Given the description of an element on the screen output the (x, y) to click on. 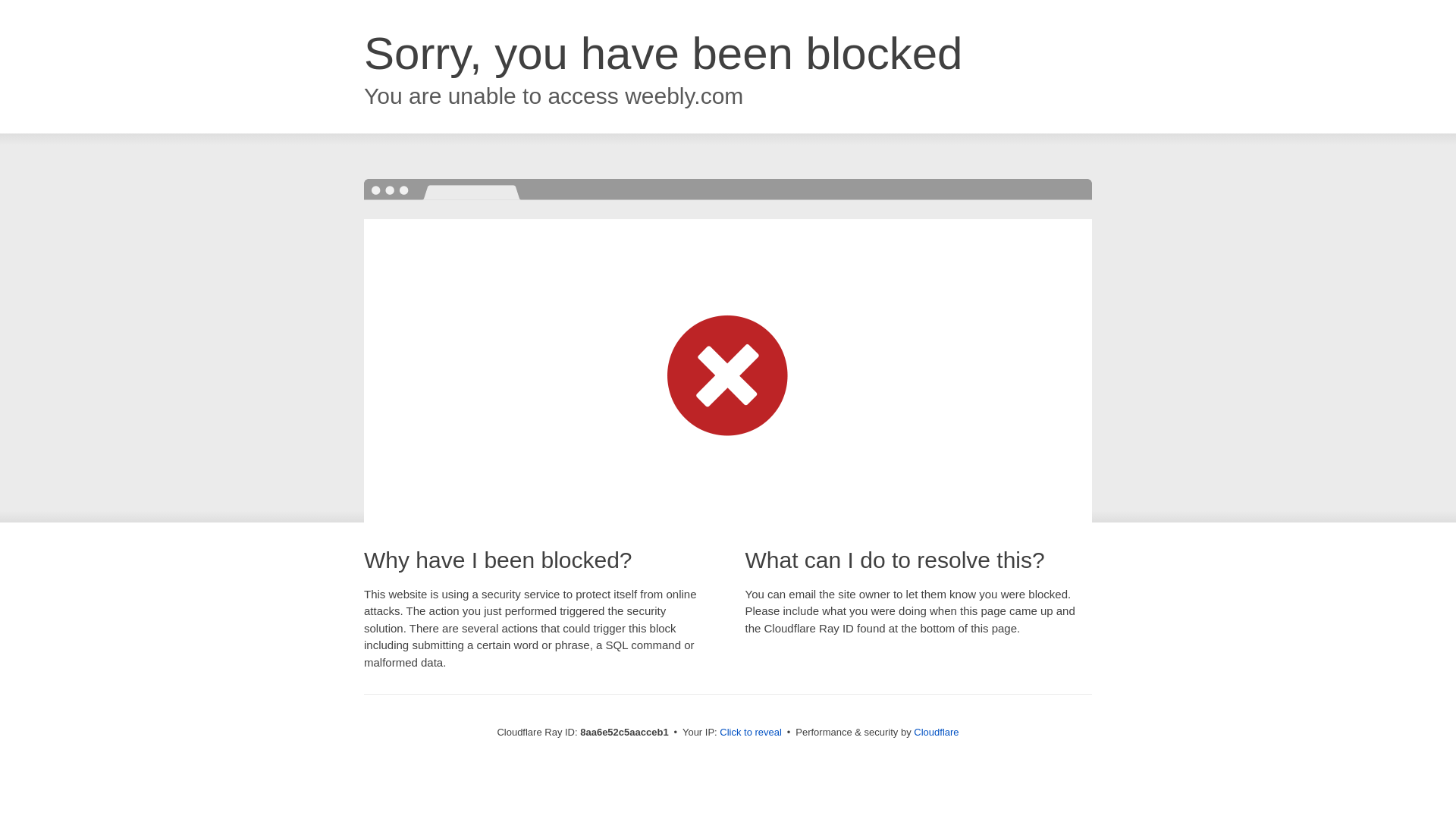
Cloudflare (936, 731)
Click to reveal (750, 732)
